Given the description of an element on the screen output the (x, y) to click on. 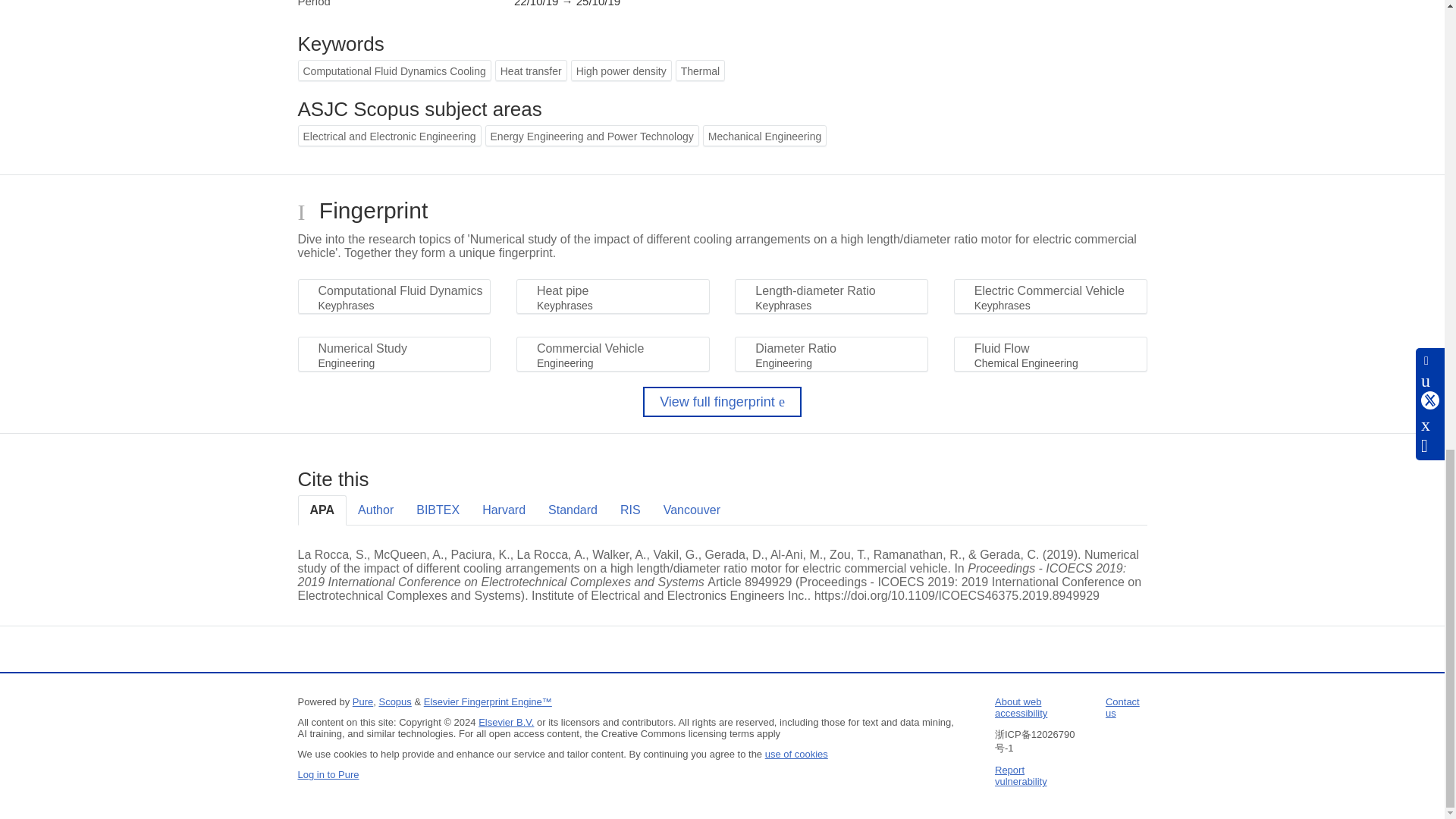
Pure (362, 701)
View full fingerprint (722, 401)
Scopus (394, 701)
